Given the description of an element on the screen output the (x, y) to click on. 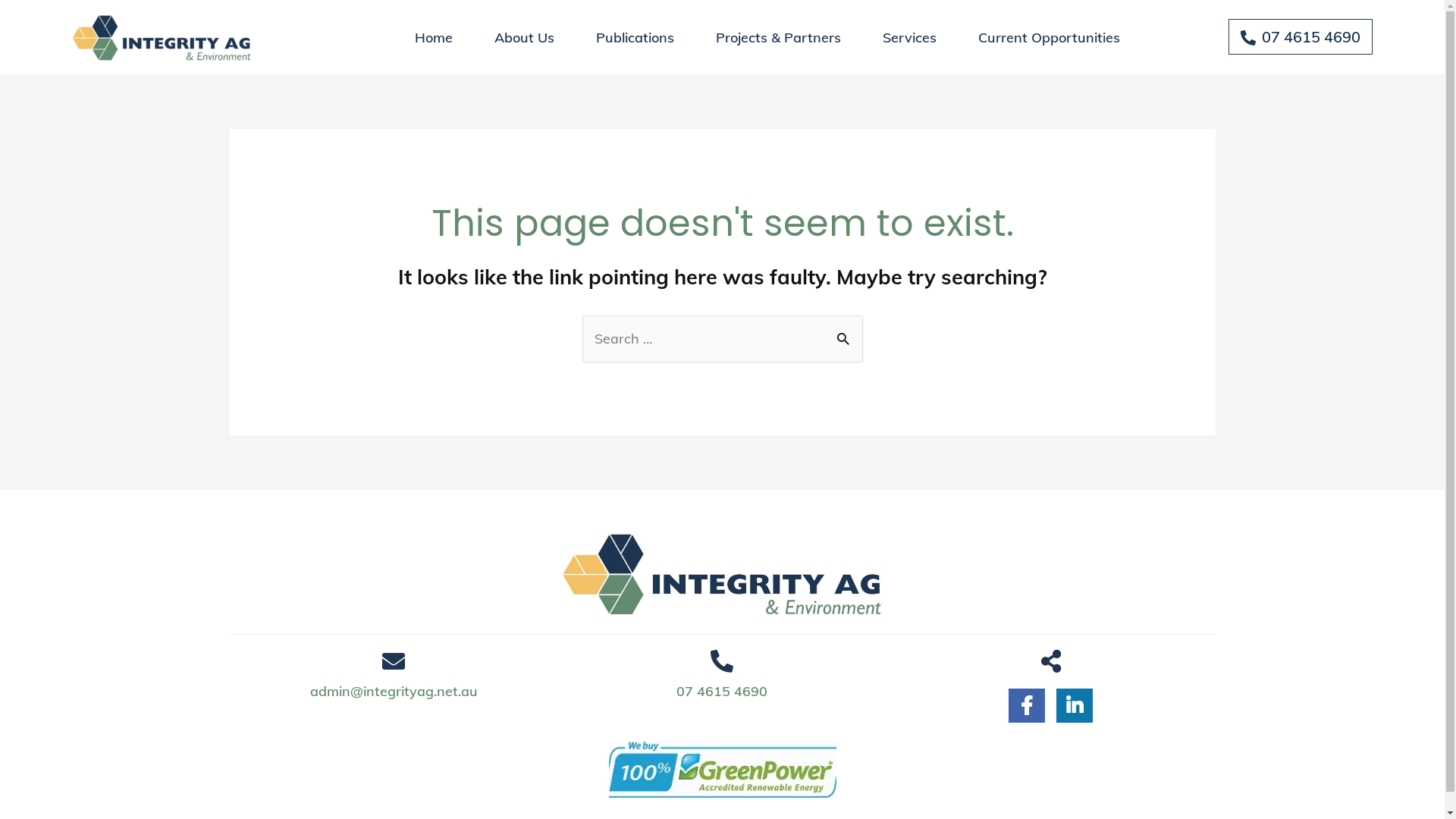
Services Element type: text (909, 37)
Green power Element type: hover (721, 769)
Integrity AG & Environment Element type: hover (721, 576)
Current Opportunities Element type: text (1049, 37)
admin@integrityag.net.au Element type: text (393, 691)
Phone Element type: hover (721, 660)
LinkedIN Element type: hover (1074, 703)
Projects & Partners Element type: text (777, 37)
Publications Element type: text (635, 37)
Search Element type: text (845, 337)
Email Element type: hover (393, 660)
About Us Element type: text (524, 37)
Home Element type: text (433, 37)
07 4615 4690 Element type: text (721, 691)
Share Element type: hover (1050, 660)
07 4615 4690 Element type: text (1300, 36)
